Given the description of an element on the screen output the (x, y) to click on. 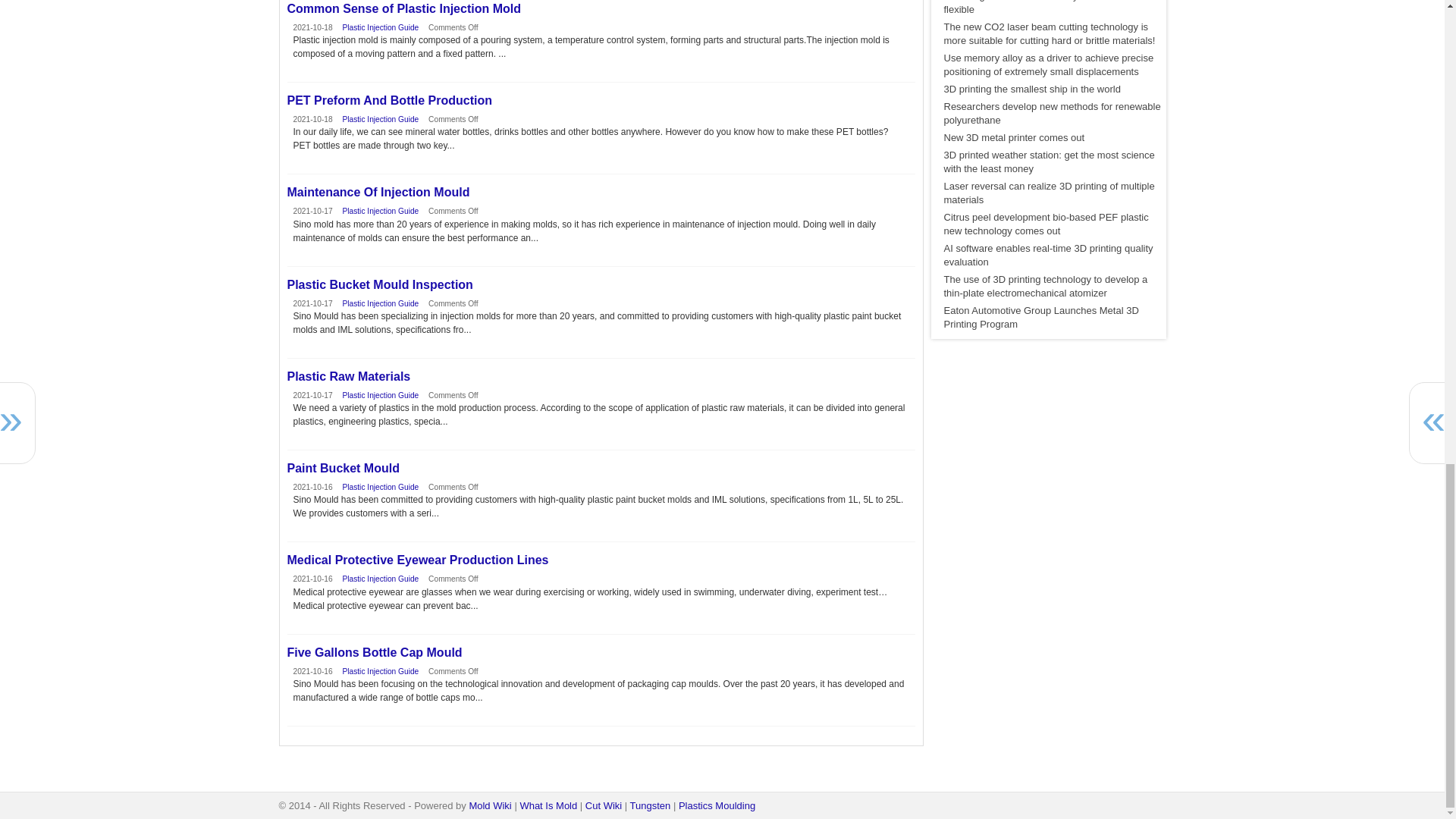
Plastic Raw Materials (600, 377)
Medical Protective Eyewear Production Lines (600, 560)
Paint Bucket Mould (600, 468)
Plastic Bucket Mould Inspection (600, 284)
Common Sense of Plastic Injection Mold (600, 8)
Maintenance Of Injection Mould (600, 192)
Five Gallons Bottle Cap Mould (600, 653)
PET Preform And Bottle Production (600, 100)
